Given the description of an element on the screen output the (x, y) to click on. 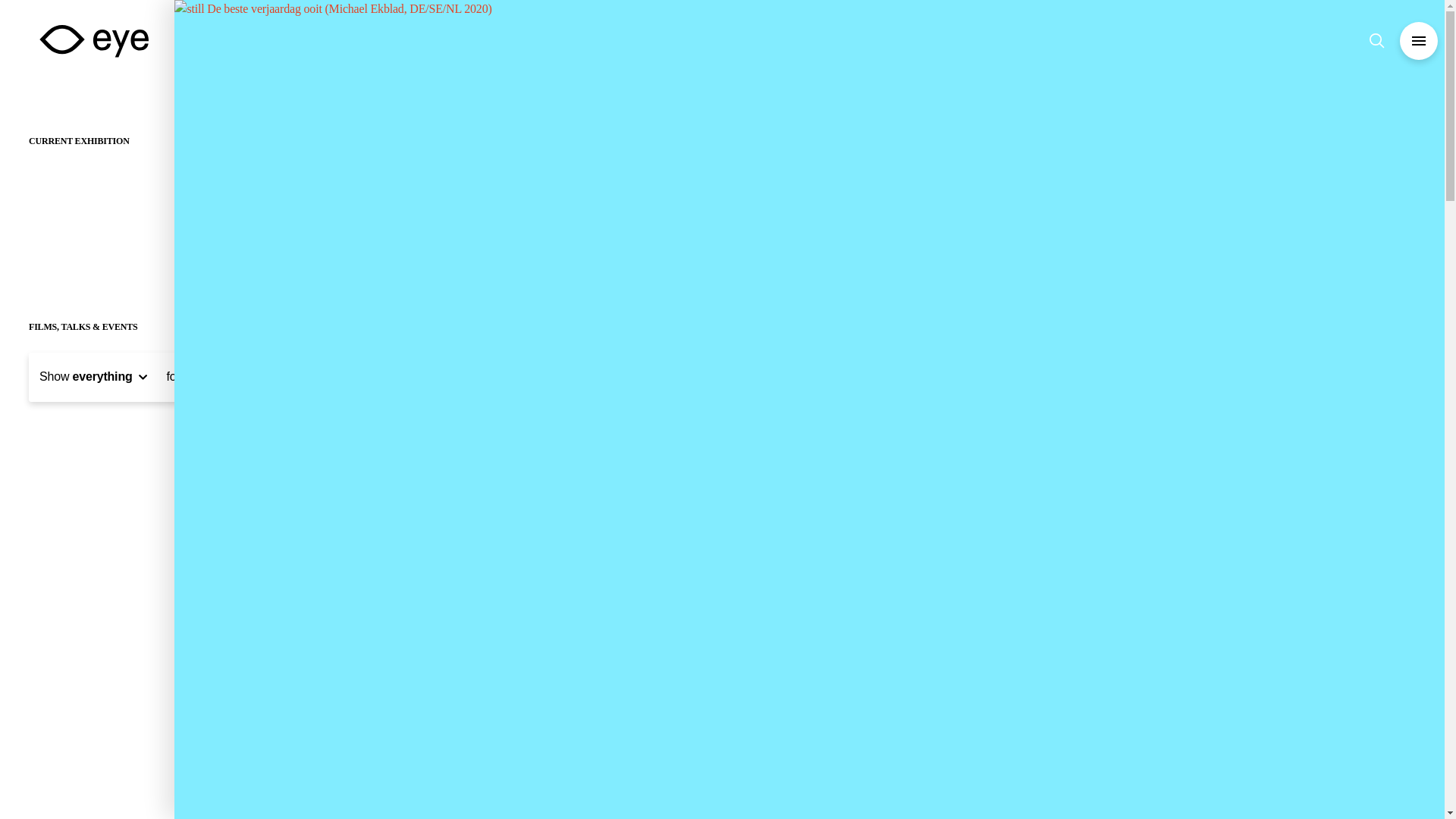
View highlights (640, 41)
Menu (1418, 40)
Search (1378, 40)
